Given the description of an element on the screen output the (x, y) to click on. 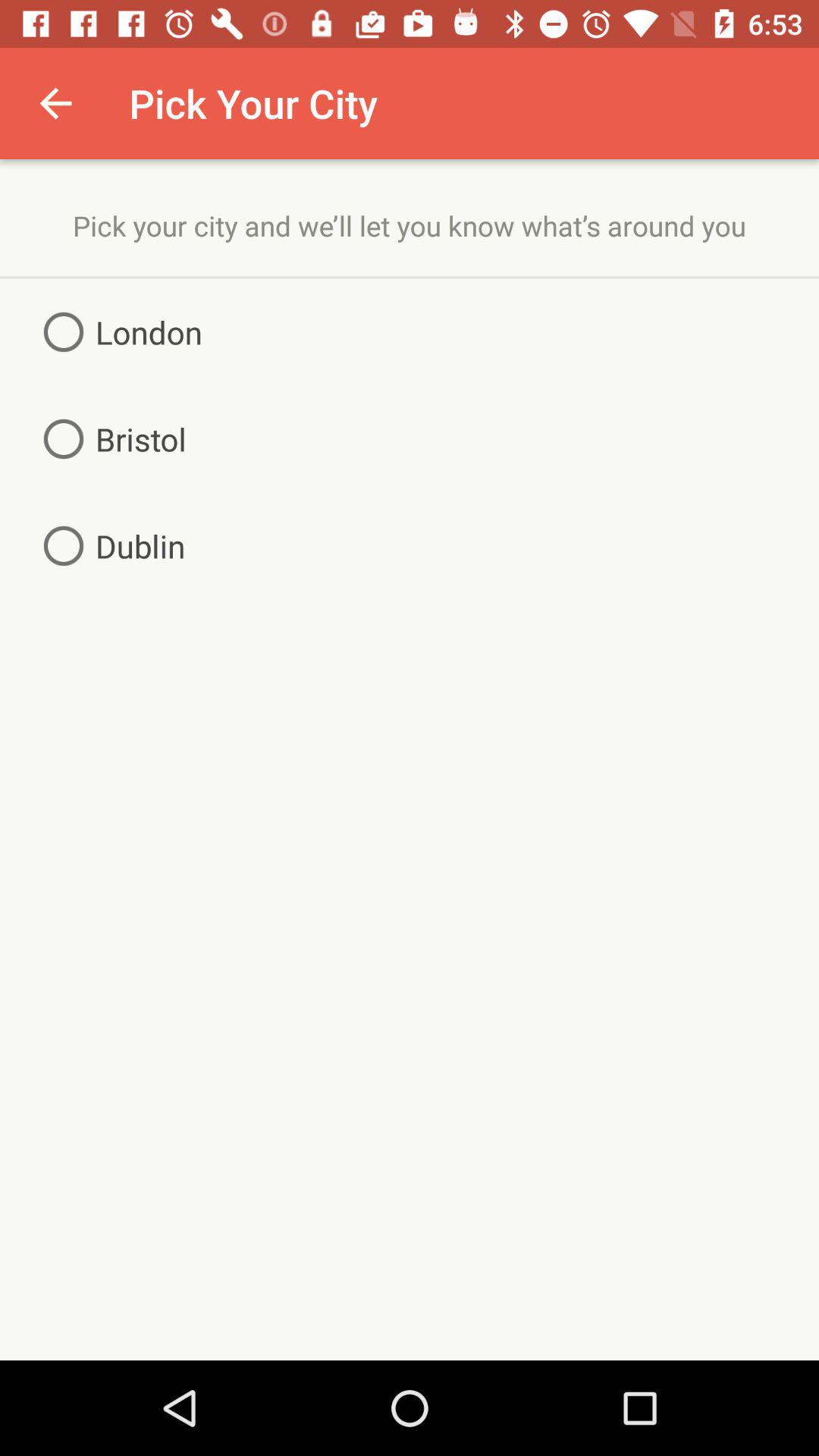
select the item on the left (108, 545)
